Given the description of an element on the screen output the (x, y) to click on. 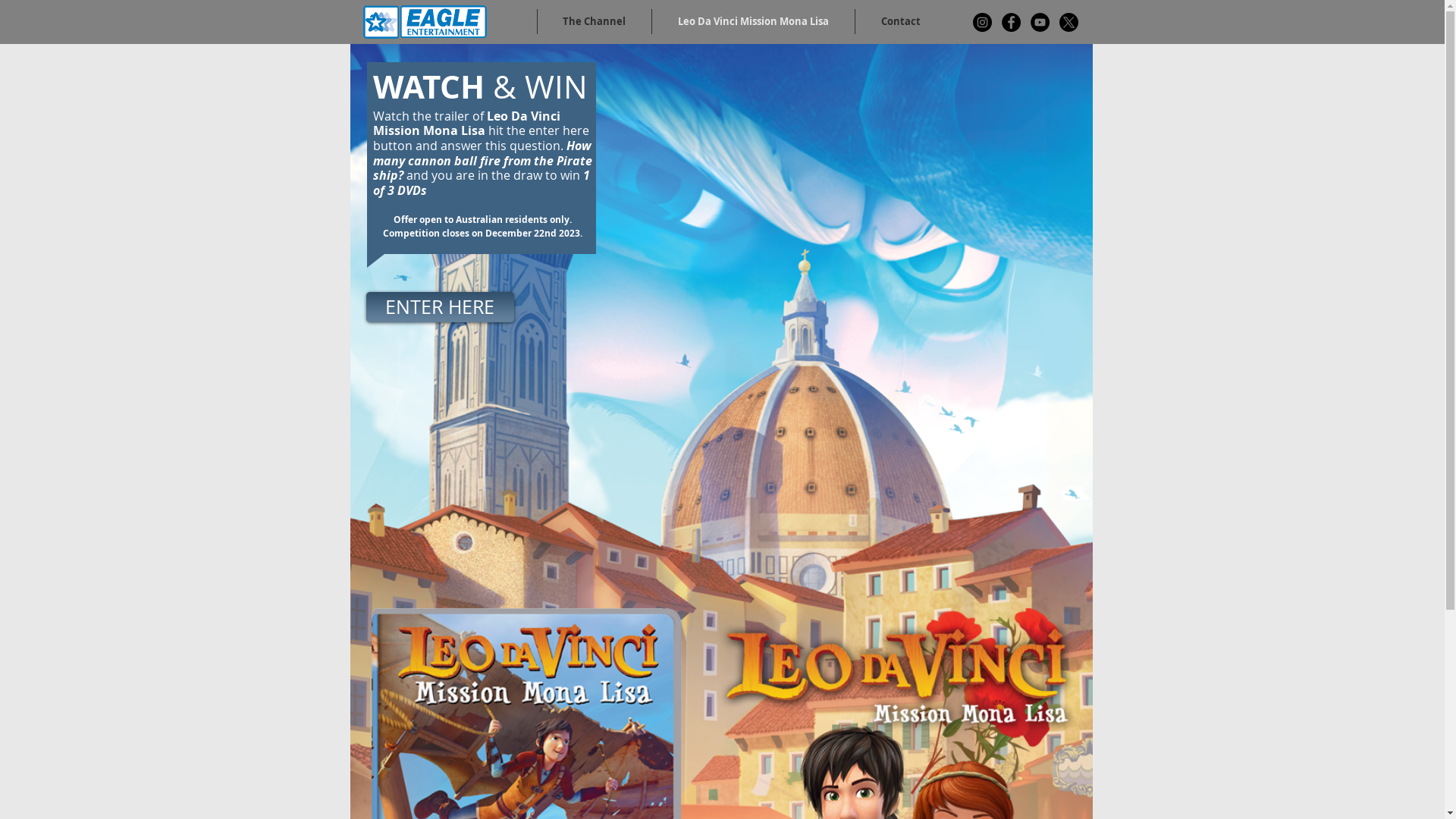
Leo Da Vinci Mission Mona Lisa Element type: text (753, 21)
Contact Element type: text (900, 21)
The Channel Element type: text (593, 21)
ENTER HERE Element type: text (439, 306)
